Given the description of an element on the screen output the (x, y) to click on. 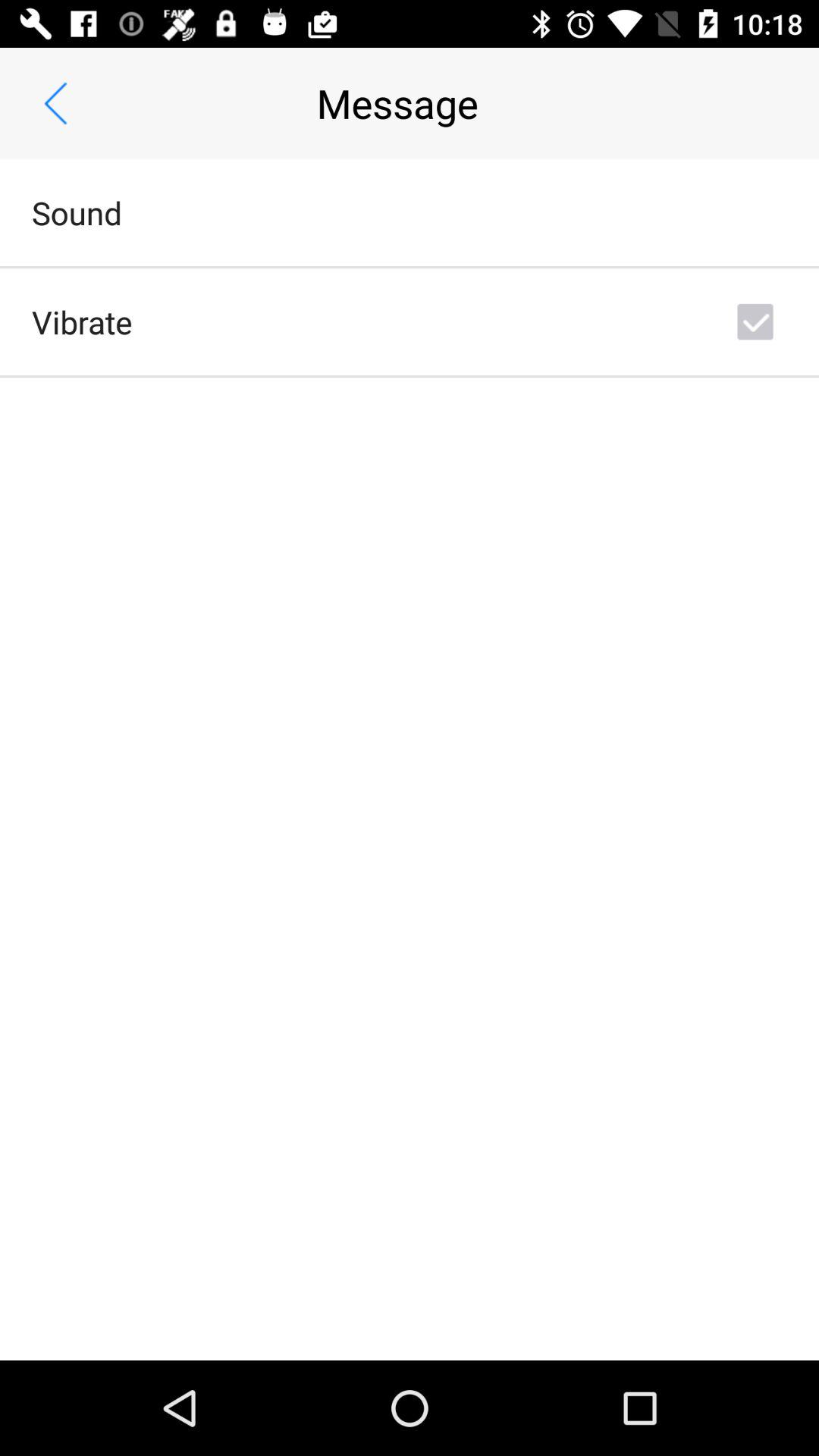
turn on vibrate (81, 321)
